Given the description of an element on the screen output the (x, y) to click on. 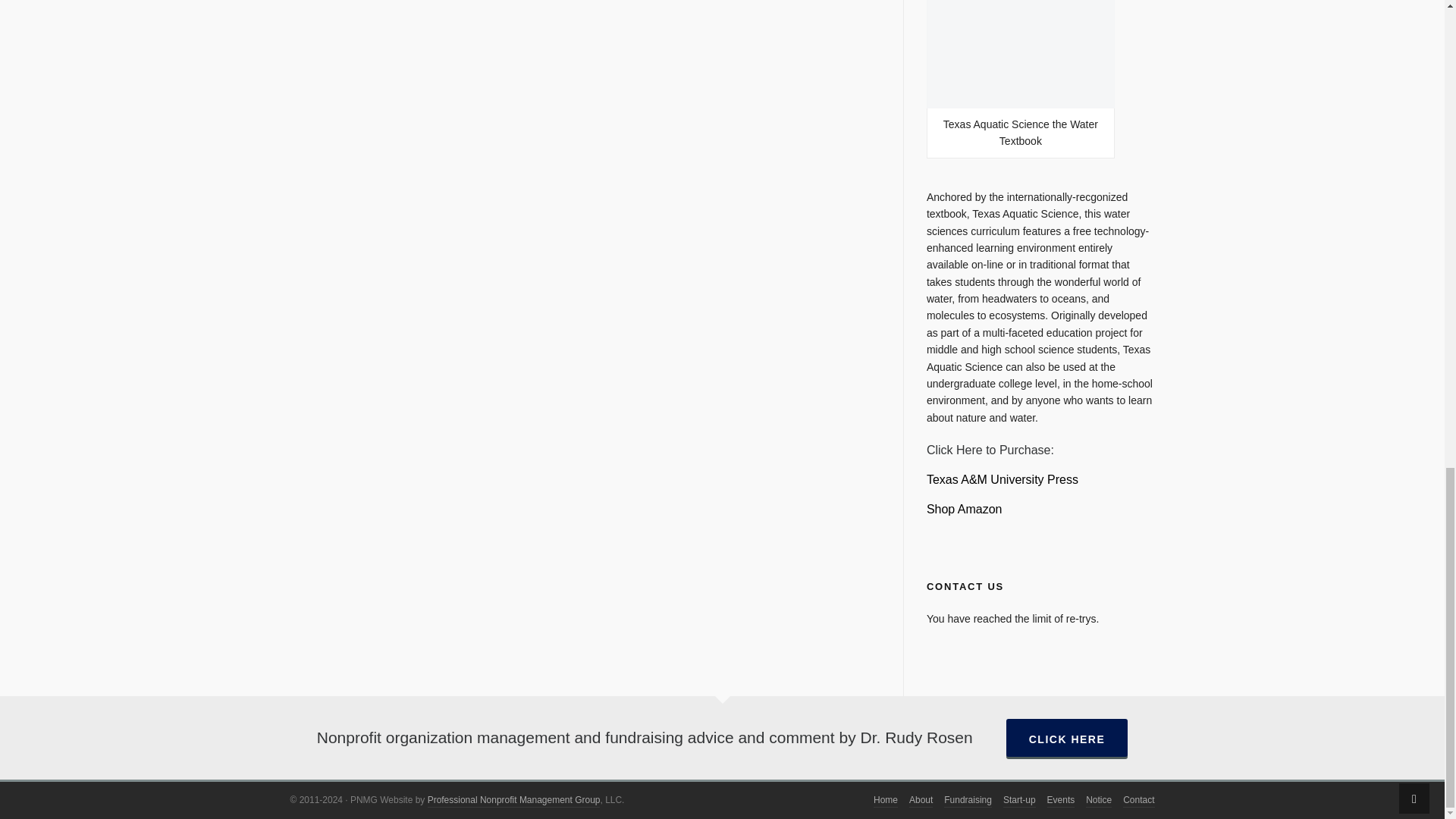
aquatic-science-rudy-rosen (1002, 479)
